Given the description of an element on the screen output the (x, y) to click on. 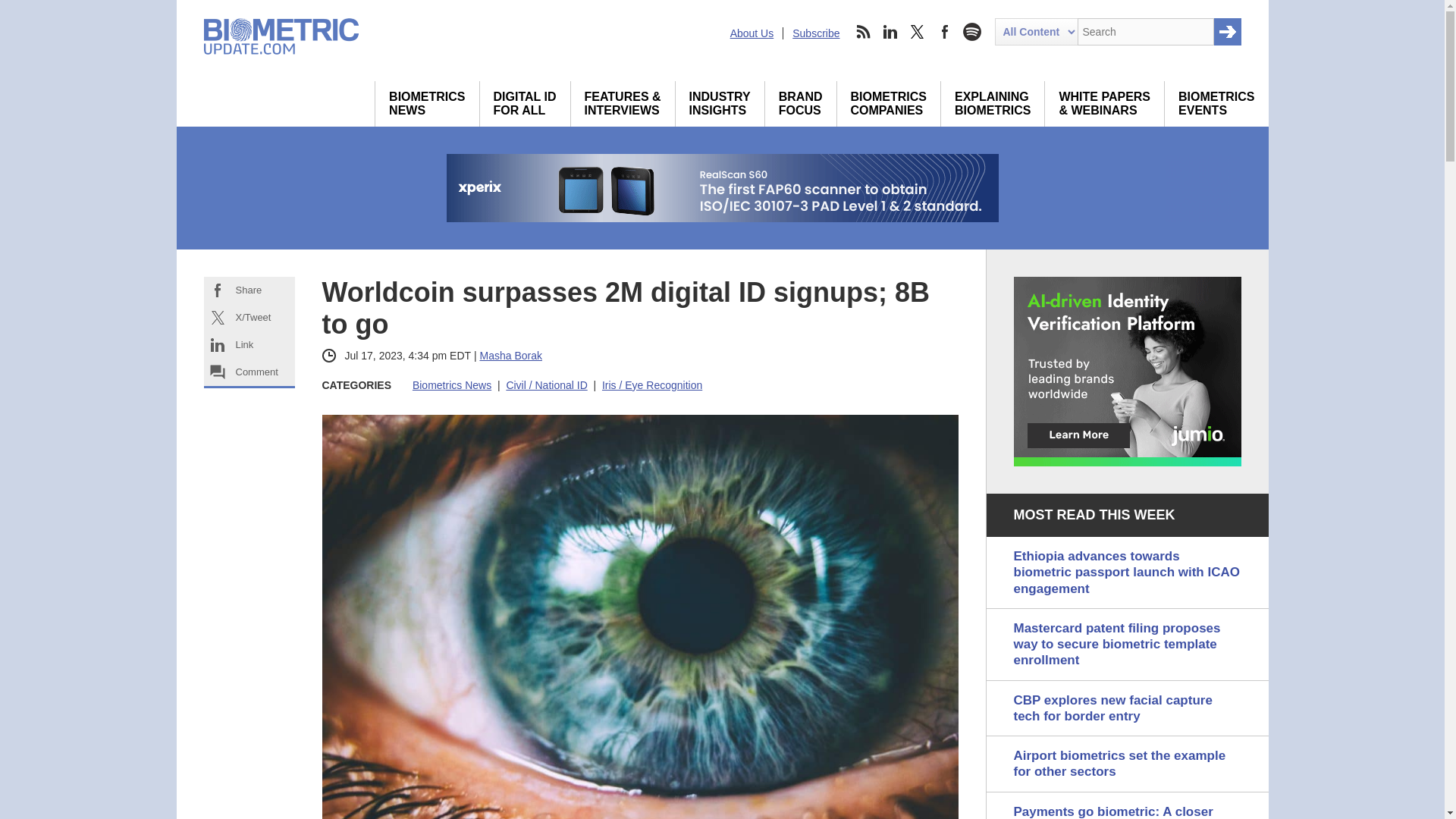
facebook (944, 31)
3rd party ad content (1126, 371)
Biometrics and digital ID initiatives in developing nations (525, 103)
Biometrics marketplace brand focus (800, 103)
linkedin (890, 31)
twitter (917, 31)
Subscribe (815, 33)
Guest posts written by biometrics industry experts  (427, 103)
About Us (719, 103)
